Given the description of an element on the screen output the (x, y) to click on. 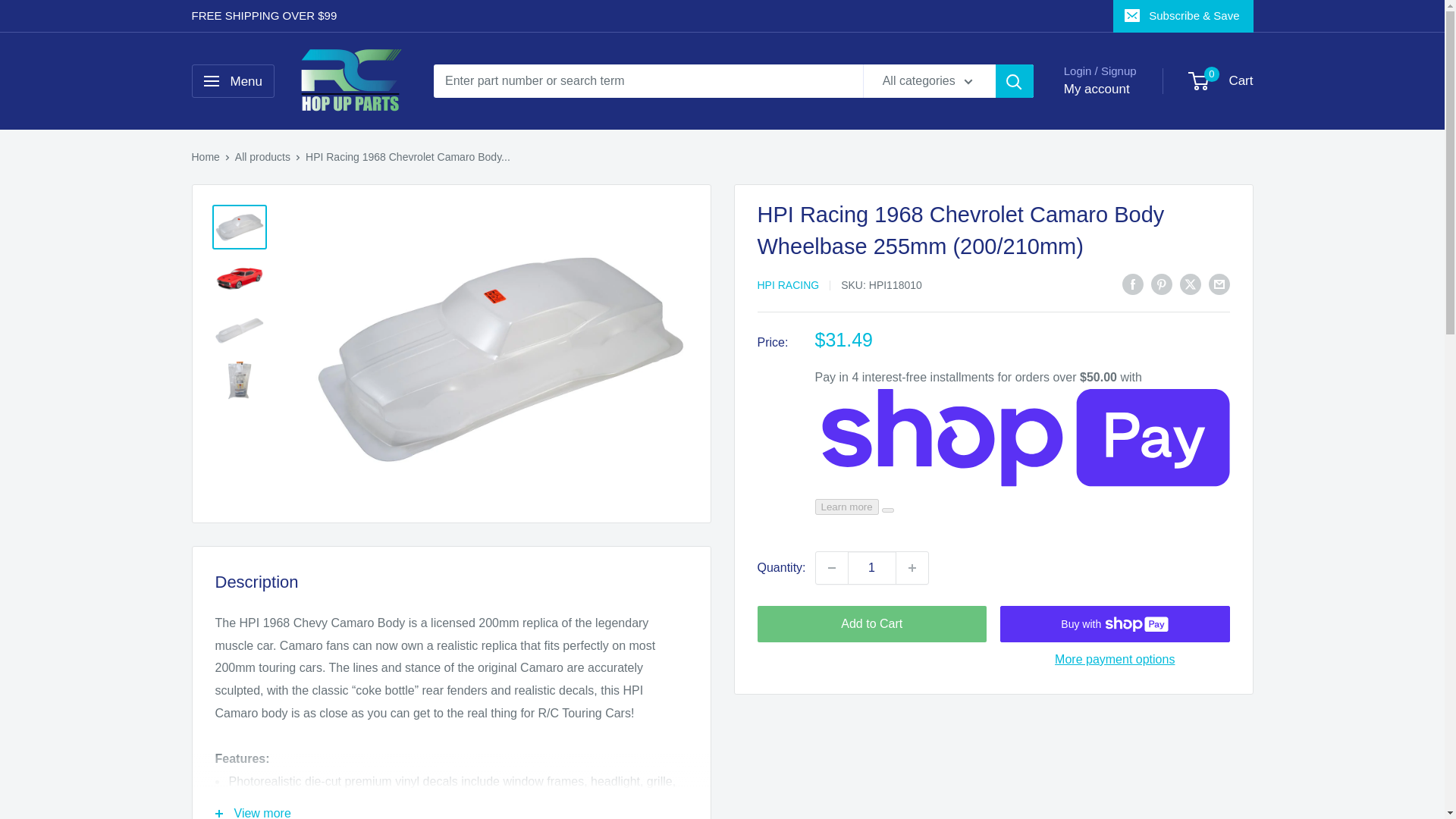
1 (871, 567)
Increase quantity by 1 (912, 567)
Decrease quantity by 1 (831, 567)
